Given the description of an element on the screen output the (x, y) to click on. 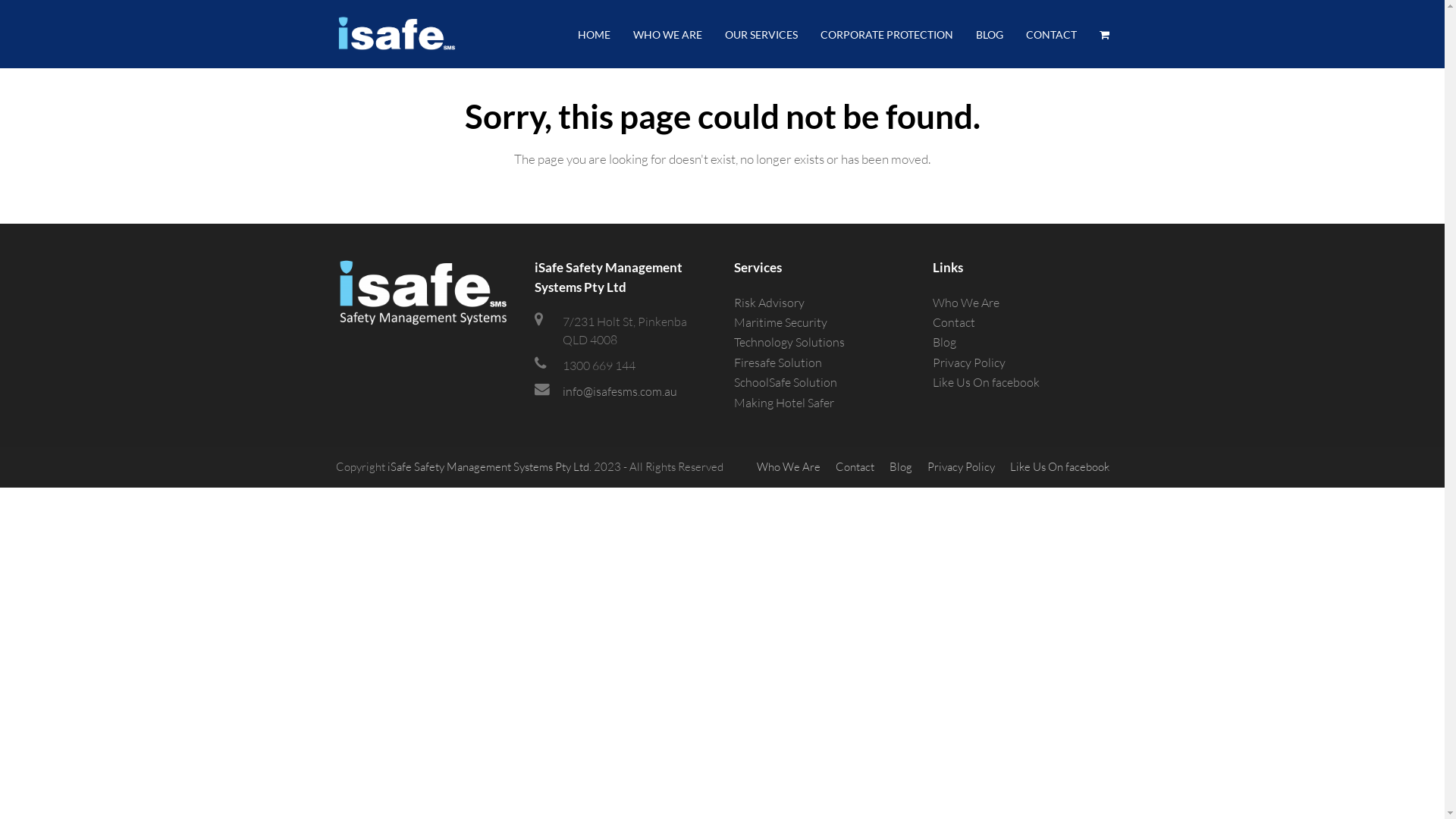
Like Us On facebook Element type: text (985, 381)
Blog Element type: text (944, 341)
Who We Are Element type: text (965, 302)
Blog Element type: text (899, 466)
CONTACT Element type: text (1051, 34)
Privacy Policy Element type: text (960, 466)
Who We Are Element type: text (788, 466)
BLOG Element type: text (989, 34)
OUR SERVICES Element type: text (760, 34)
Technology Solutions Element type: text (789, 341)
Maritime Security Element type: text (780, 321)
HOME Element type: text (593, 34)
Privacy Policy Element type: text (968, 362)
Contact Element type: text (953, 321)
info@isafesms.com.au Element type: text (619, 390)
Firesafe Solution Element type: text (778, 362)
Making Hotel Safer Element type: text (784, 402)
Like Us On facebook Element type: text (1059, 466)
Risk Advisory Element type: text (769, 302)
CORPORATE PROTECTION Element type: text (885, 34)
Contact Element type: text (854, 466)
WHO WE ARE Element type: text (667, 34)
SchoolSafe Solution Element type: text (785, 381)
iSafe Safety Management Systems Pty Ltd. Element type: text (488, 466)
